Given the description of an element on the screen output the (x, y) to click on. 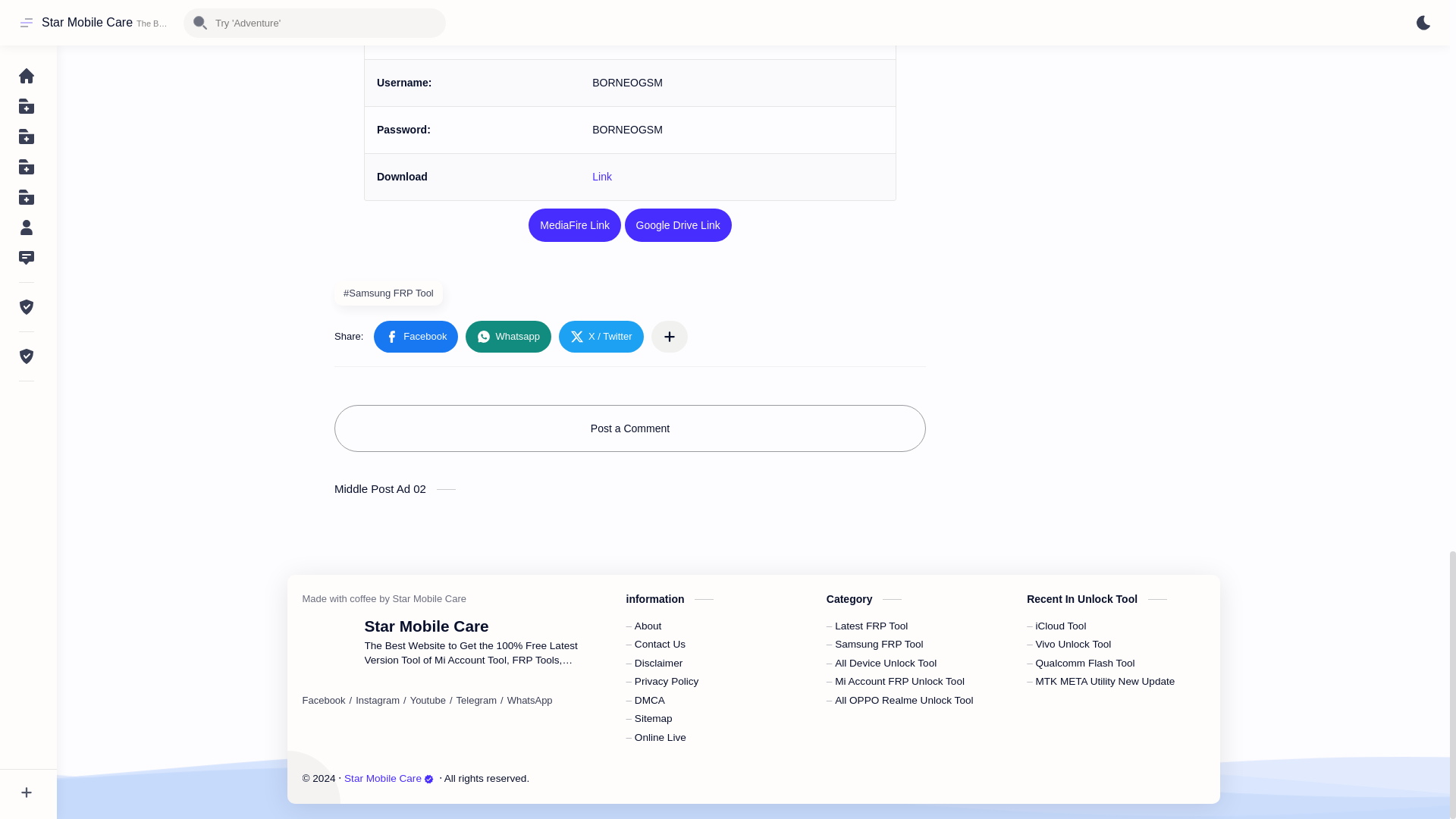
Link (601, 176)
MediaFire Link (574, 224)
Google Drive Link (678, 224)
